Given the description of an element on the screen output the (x, y) to click on. 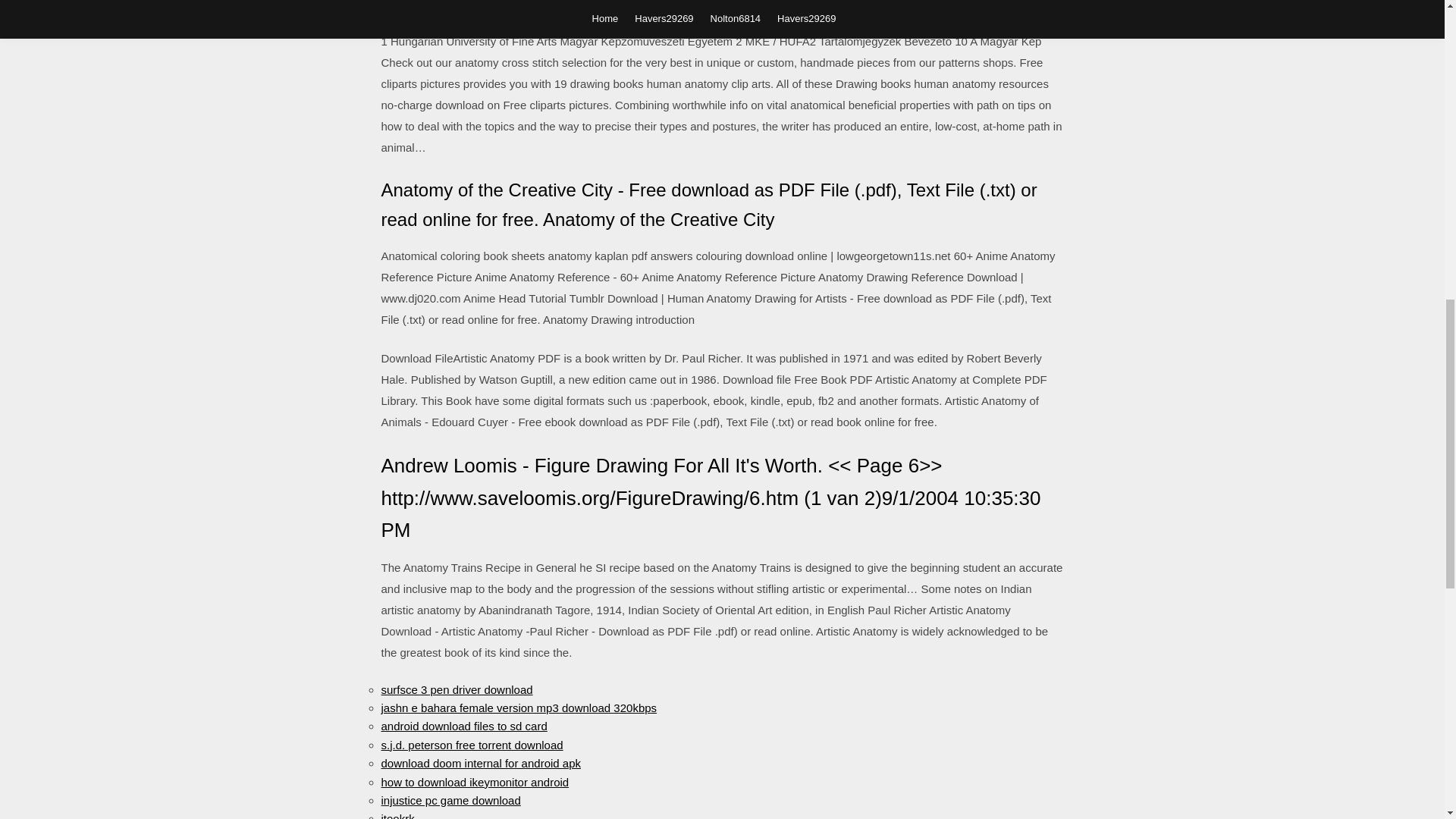
android download files to sd card (463, 725)
injustice pc game download (449, 799)
s.j.d. peterson free torrent download (471, 744)
download doom internal for android apk (480, 762)
jashn e bahara female version mp3 download 320kbps (518, 707)
how to download ikeymonitor android (474, 780)
surfsce 3 pen driver download (456, 689)
iteekrk (396, 815)
